Given the description of an element on the screen output the (x, y) to click on. 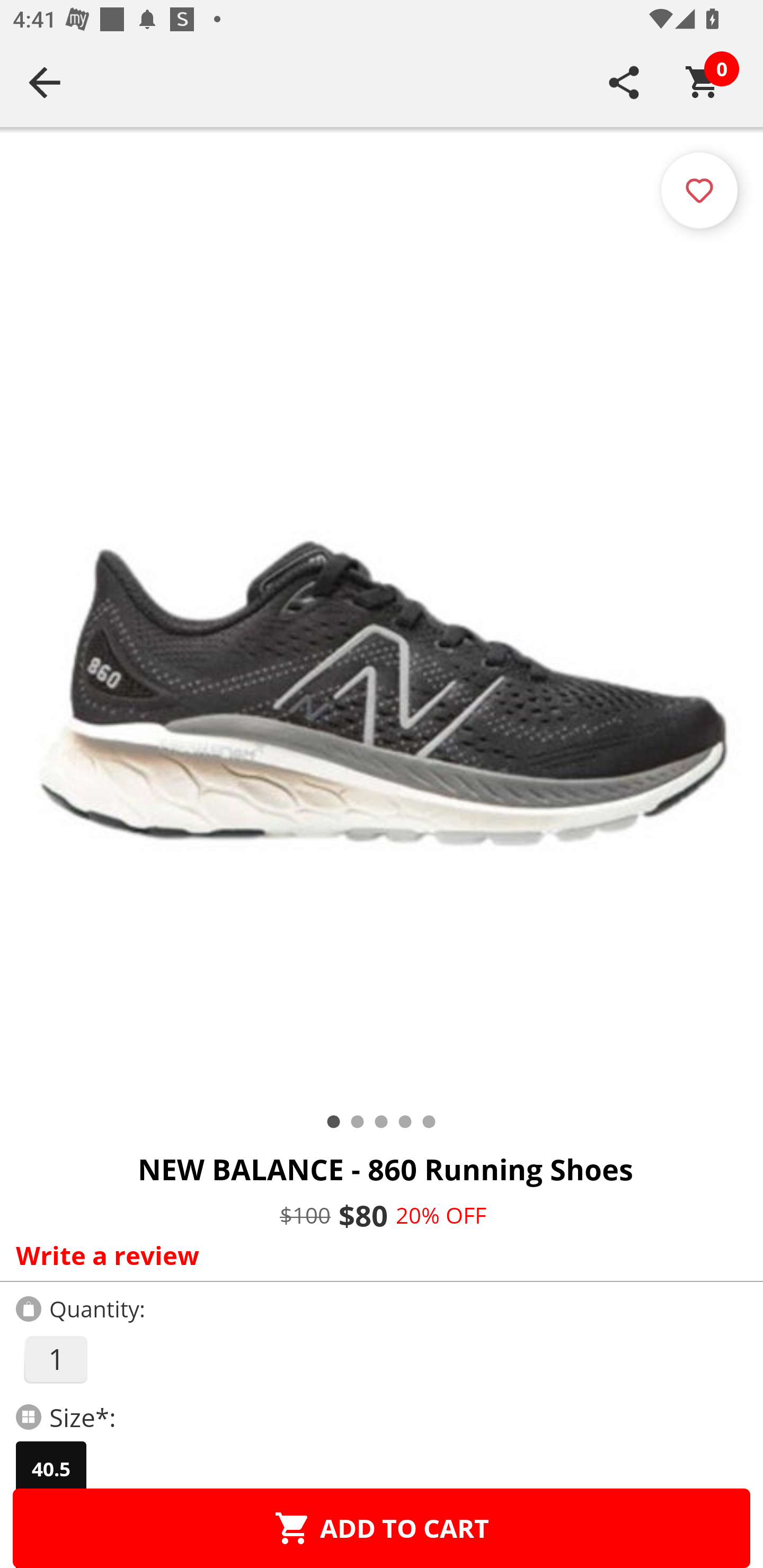
Navigate up (44, 82)
SHARE (623, 82)
Cart (703, 81)
Write a review (377, 1255)
1 (55, 1358)
40.5 (51, 1468)
ADD TO CART (381, 1528)
